Given the description of an element on the screen output the (x, y) to click on. 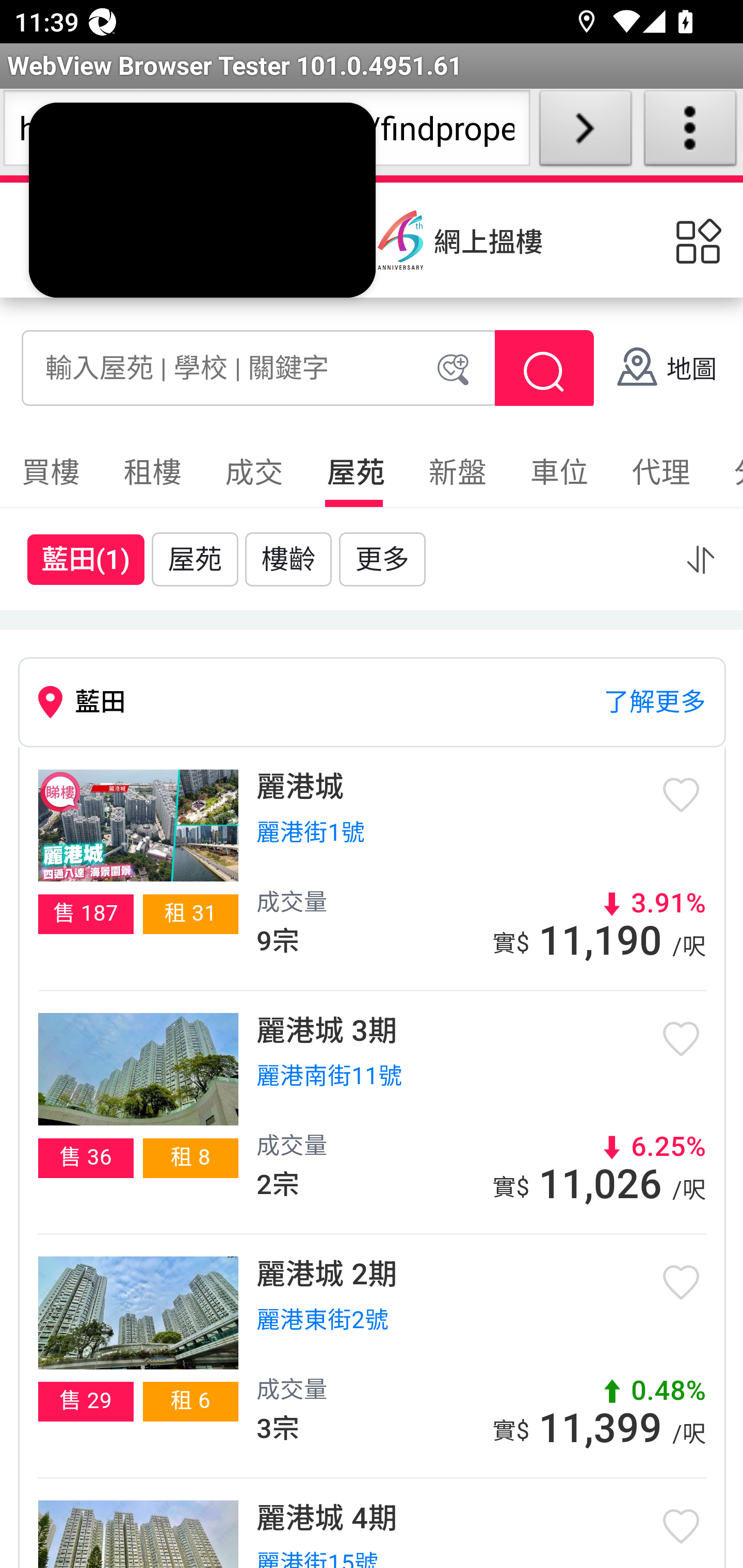
Load URL (585, 132)
About WebView (690, 132)
地圖 (665, 369)
 (544, 372)
買樓 (51, 472)
租樓 (152, 472)
成交 (254, 472)
屋苑 (355, 472)
新盤 (457, 472)
車位 (558, 472)
代理 (660, 472)
 (700, 558)
屋苑 (193, 557)
樓齡 (288, 557)
更多 (381, 557)
藍田(1) (85, 558)
了解更多 (655, 703)
麗港城的屋苑詳情 (137, 824)
麗港城的屋苑詳情 (137, 1068)
麗港城的屋苑詳情 (137, 1312)
